Given the description of an element on the screen output the (x, y) to click on. 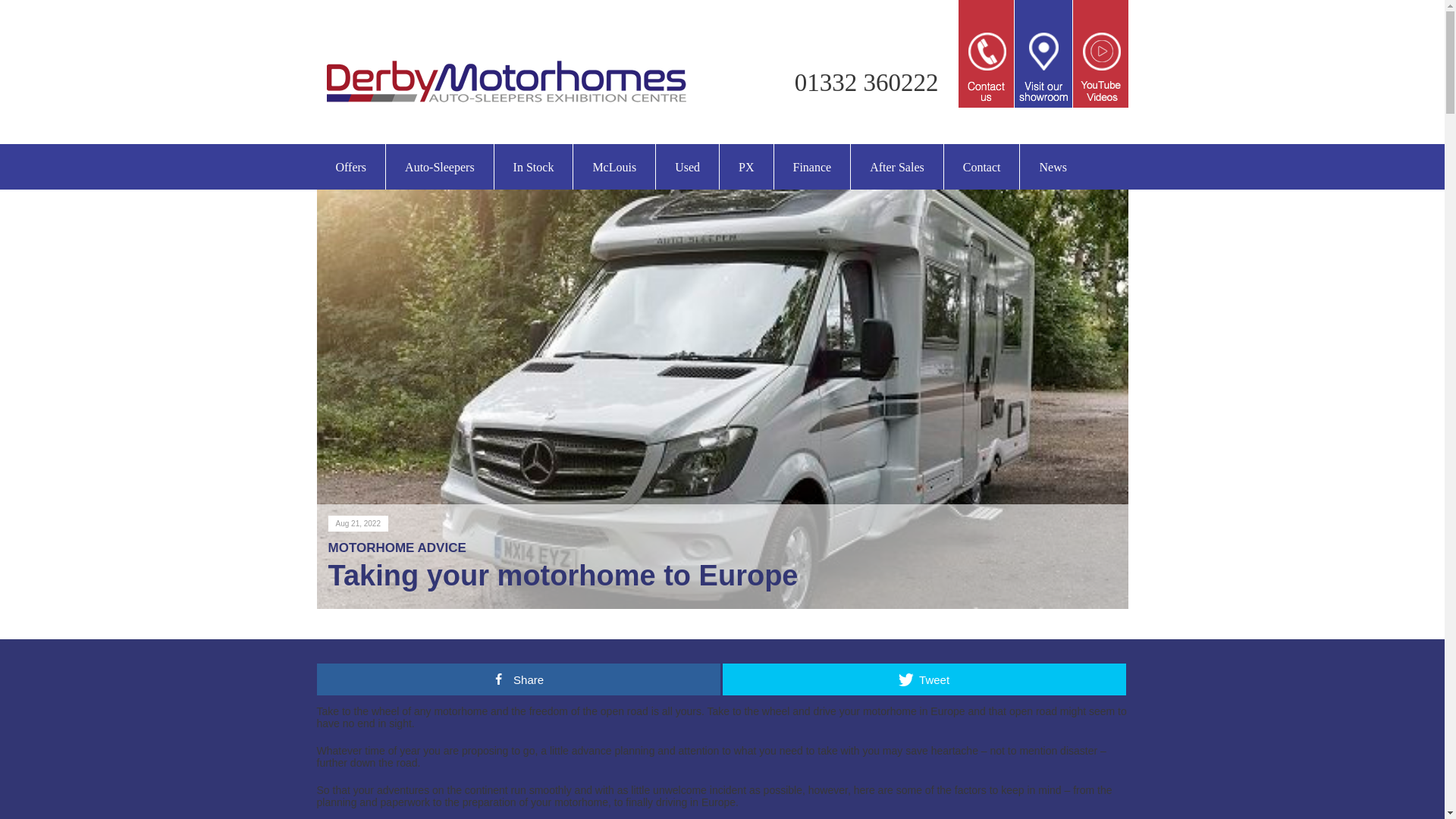
PX (746, 166)
Auto Sleeper Dealers of Excellence (506, 109)
McLouis (614, 166)
After Sales (896, 166)
In Stock (534, 166)
Auto-Sleepers (439, 166)
Finance (812, 166)
Offers (351, 166)
Used (687, 166)
01332 360222 (866, 82)
Contact (981, 166)
